Given the description of an element on the screen output the (x, y) to click on. 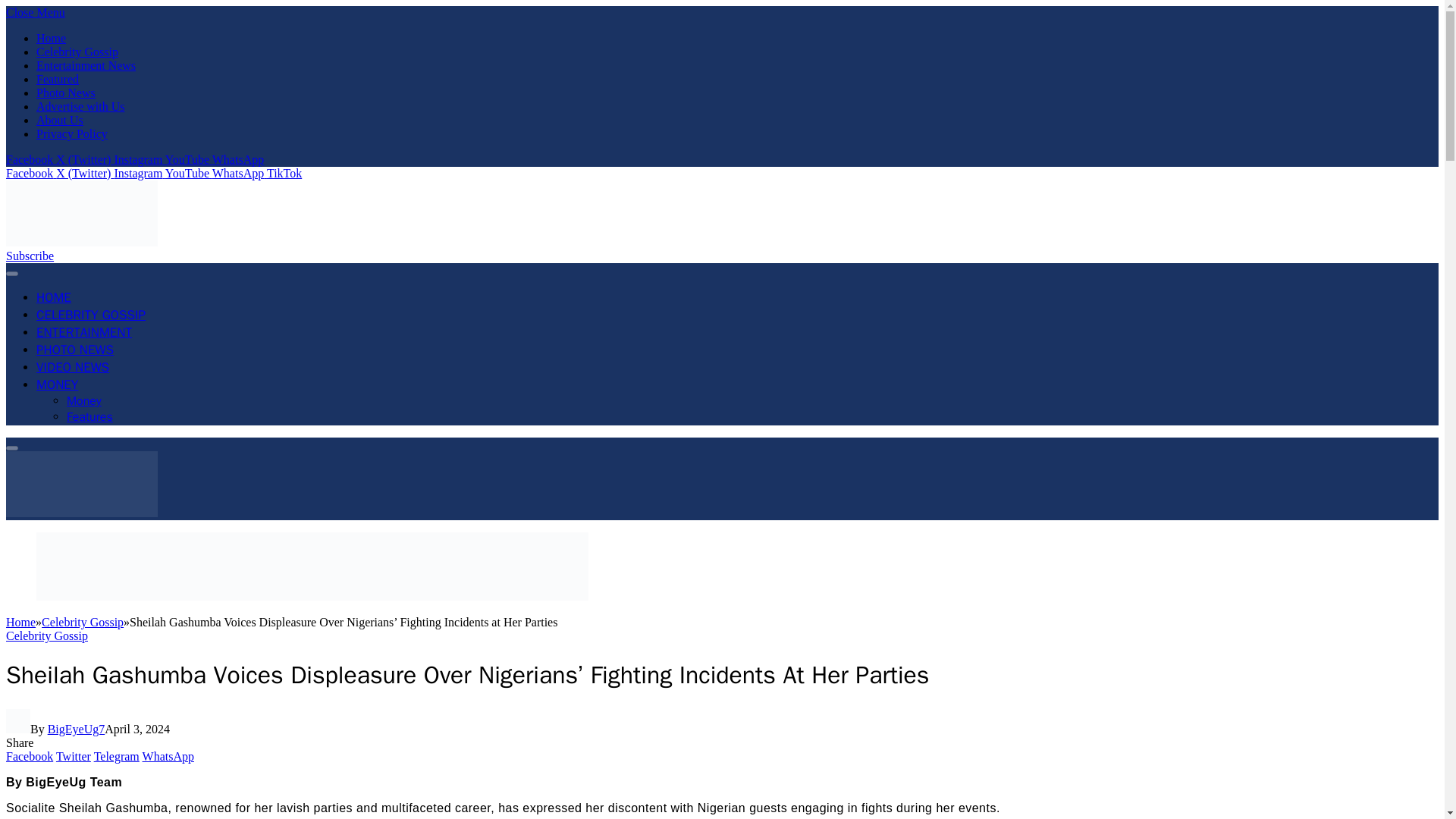
VIDEO NEWS (72, 367)
Home (50, 38)
Features (89, 417)
Money (83, 400)
Photo News (66, 92)
Subscribe (29, 255)
Privacy Policy (71, 133)
Close Menu (35, 11)
CELEBRITY GOSSIP (90, 314)
HOME (53, 297)
